Given the description of an element on the screen output the (x, y) to click on. 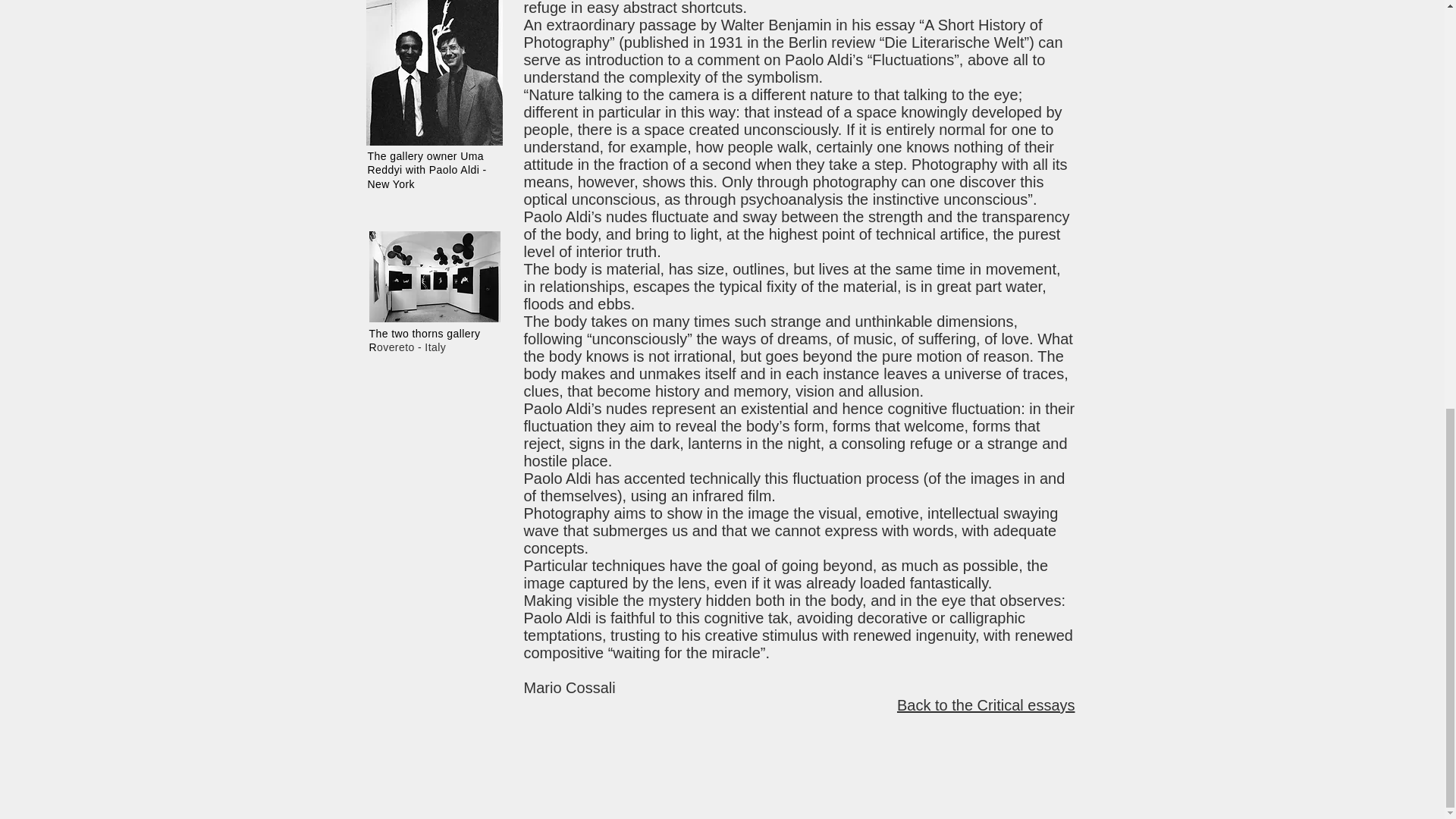
Back to the Critical essays (985, 704)
